Given the description of an element on the screen output the (x, y) to click on. 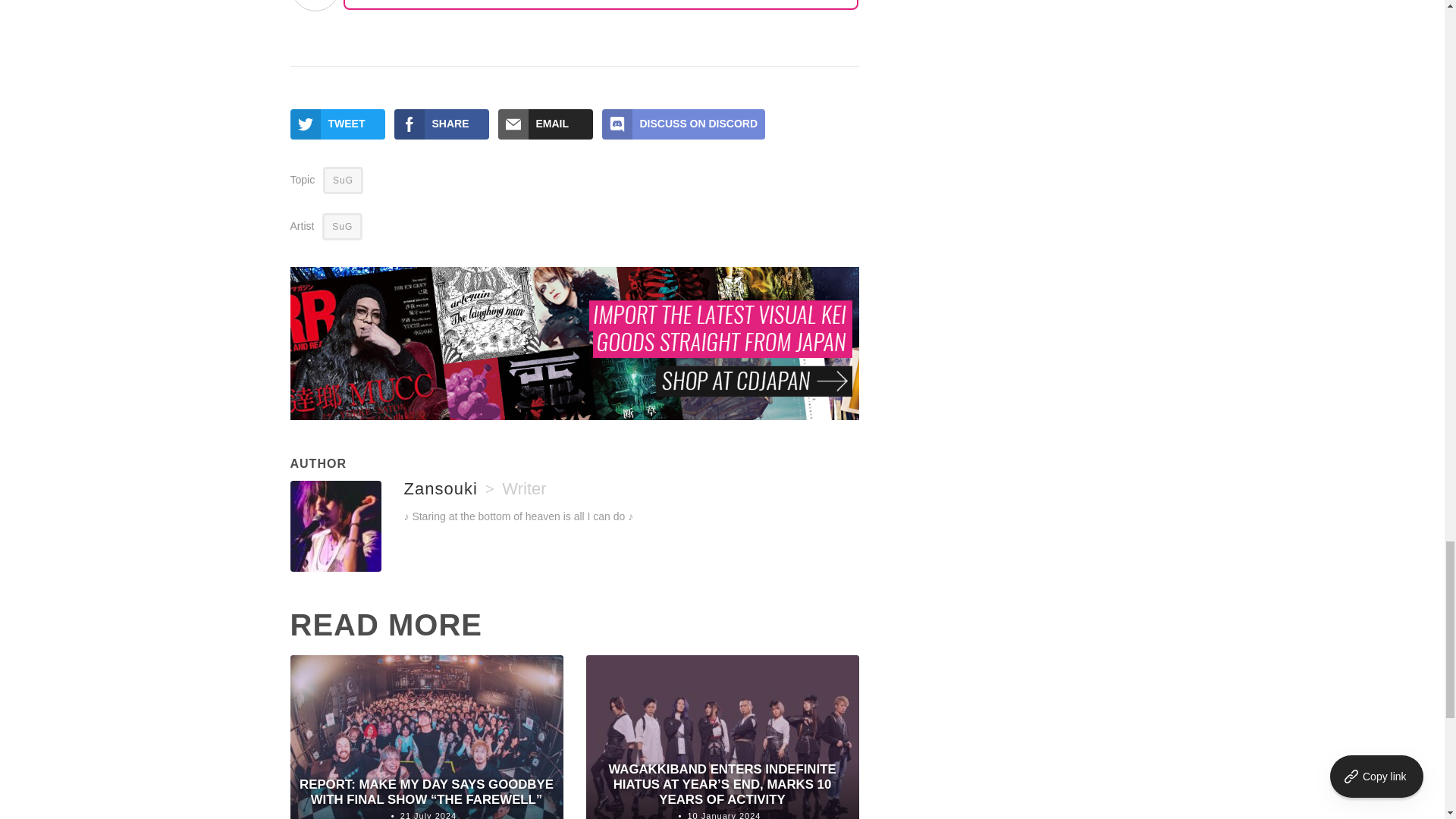
Share on Facebook (441, 124)
Discuss on discord (683, 124)
Share via e-mail (544, 124)
Tweet it (336, 124)
